Given the description of an element on the screen output the (x, y) to click on. 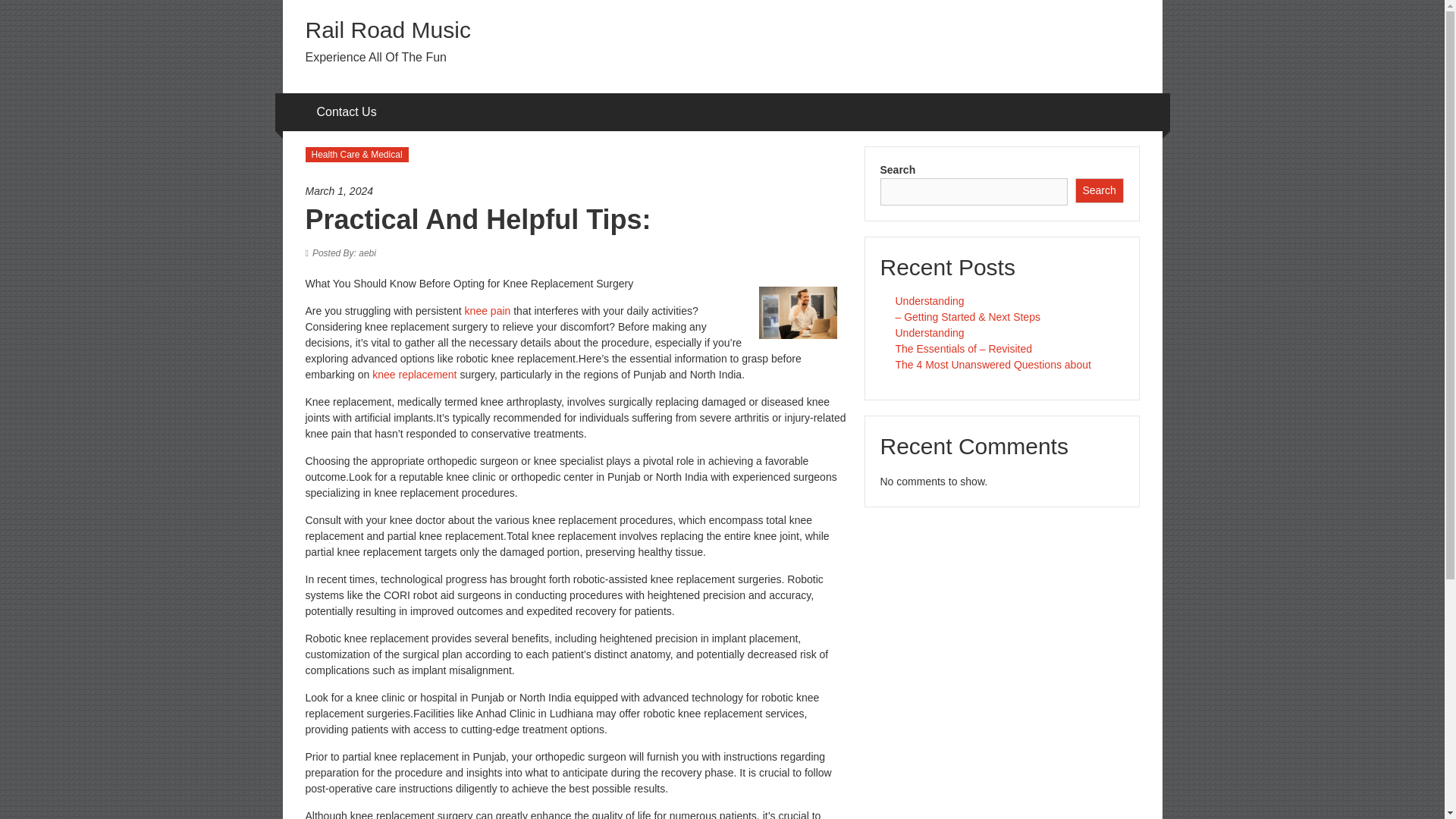
The 4 Most Unanswered Questions about (992, 364)
5:17 am (575, 191)
knee pain (488, 310)
Understanding (929, 300)
March 1, 2024 (575, 191)
Understanding (929, 332)
Search (1099, 190)
Rail Road Music (387, 29)
Posted By: aebi (344, 253)
knee replacement (414, 374)
